Given the description of an element on the screen output the (x, y) to click on. 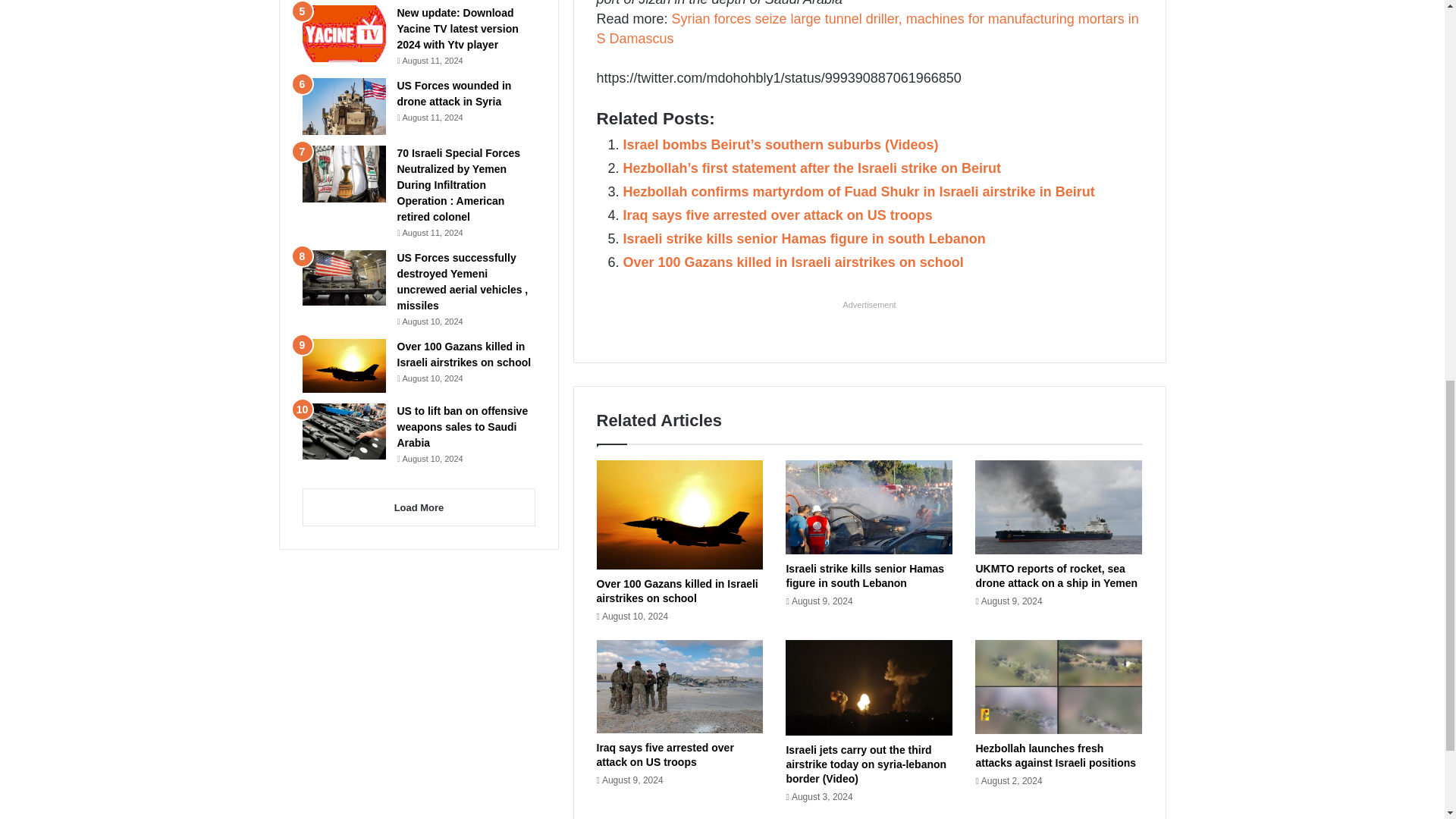
Over 100 Gazans killed in Israeli airstrikes on school (793, 262)
Israeli strike kills senior Hamas figure in south Lebanon (804, 237)
Hezbollah launches fresh attacks against Israeli positions (1055, 755)
Over 100 Gazans killed in Israeli airstrikes on school (676, 591)
UKMTO reports of rocket, sea drone attack on a ship in Yemen (1056, 575)
Israeli strike kills senior Hamas figure in south Lebanon (804, 237)
Israeli strike kills senior Hamas figure in south Lebanon (864, 575)
Iraq says five arrested over attack on US troops (778, 215)
